Given the description of an element on the screen output the (x, y) to click on. 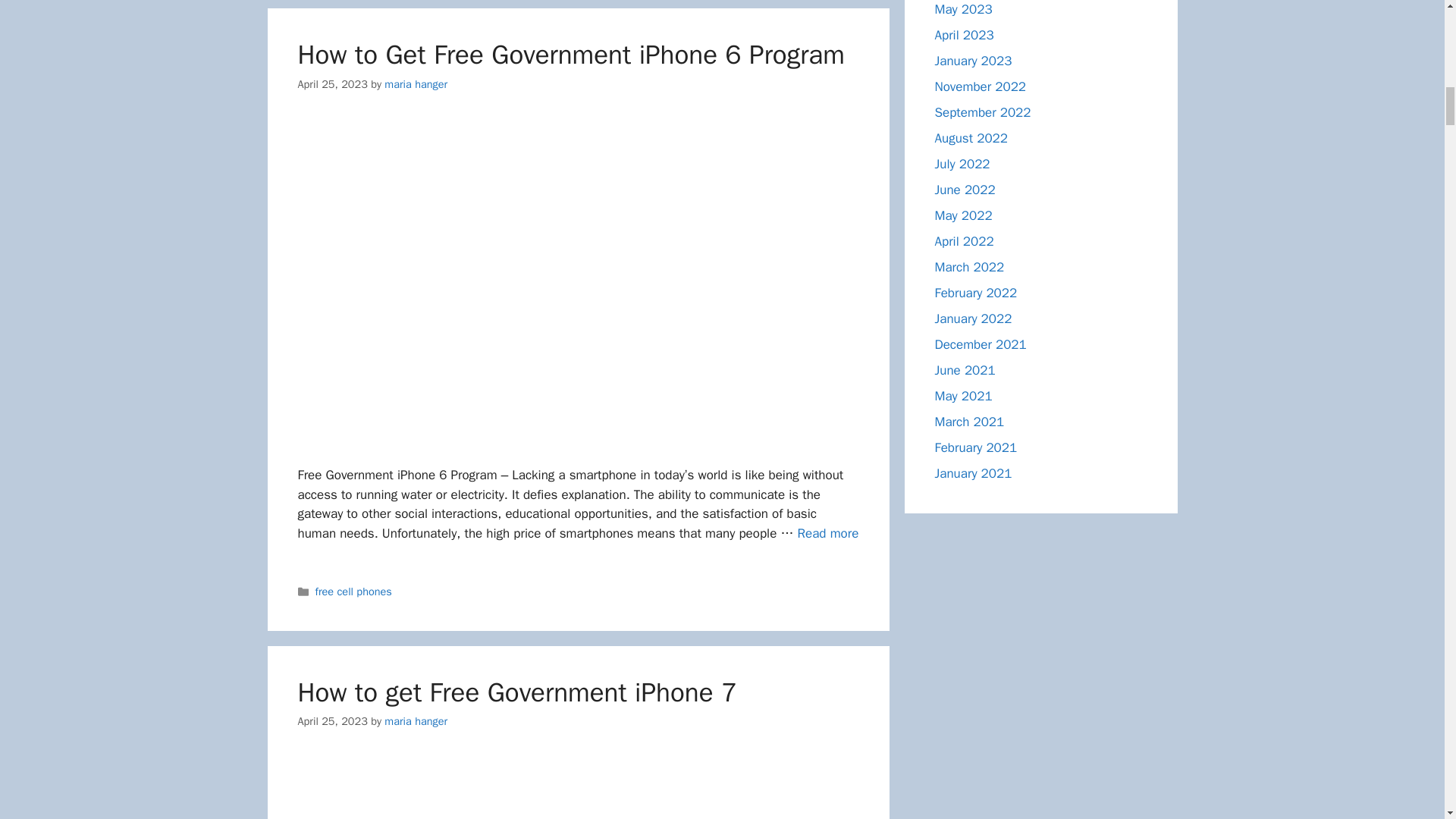
How to Get Free Government iPhone 6 Program (828, 533)
Read more (828, 533)
How to get Free Government iPhone 7 (578, 787)
View all posts by maria hanger (415, 83)
How to get Free Government iPhone 7 (516, 692)
free cell phones (353, 591)
How to Get Free Government iPhone 6 Program (570, 54)
maria hanger (415, 83)
View all posts by maria hanger (415, 721)
maria hanger (415, 721)
